Given the description of an element on the screen output the (x, y) to click on. 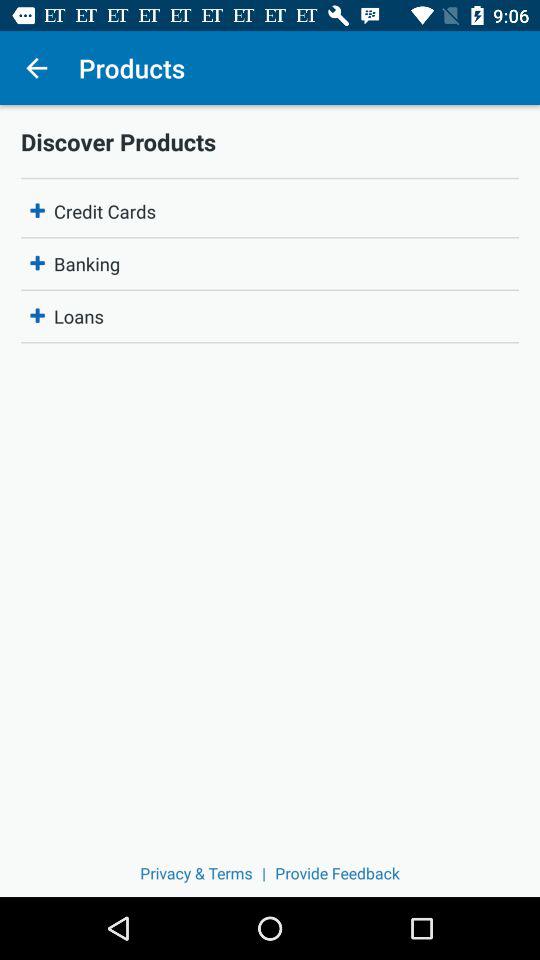
tap item to the left of | item (196, 872)
